Given the description of an element on the screen output the (x, y) to click on. 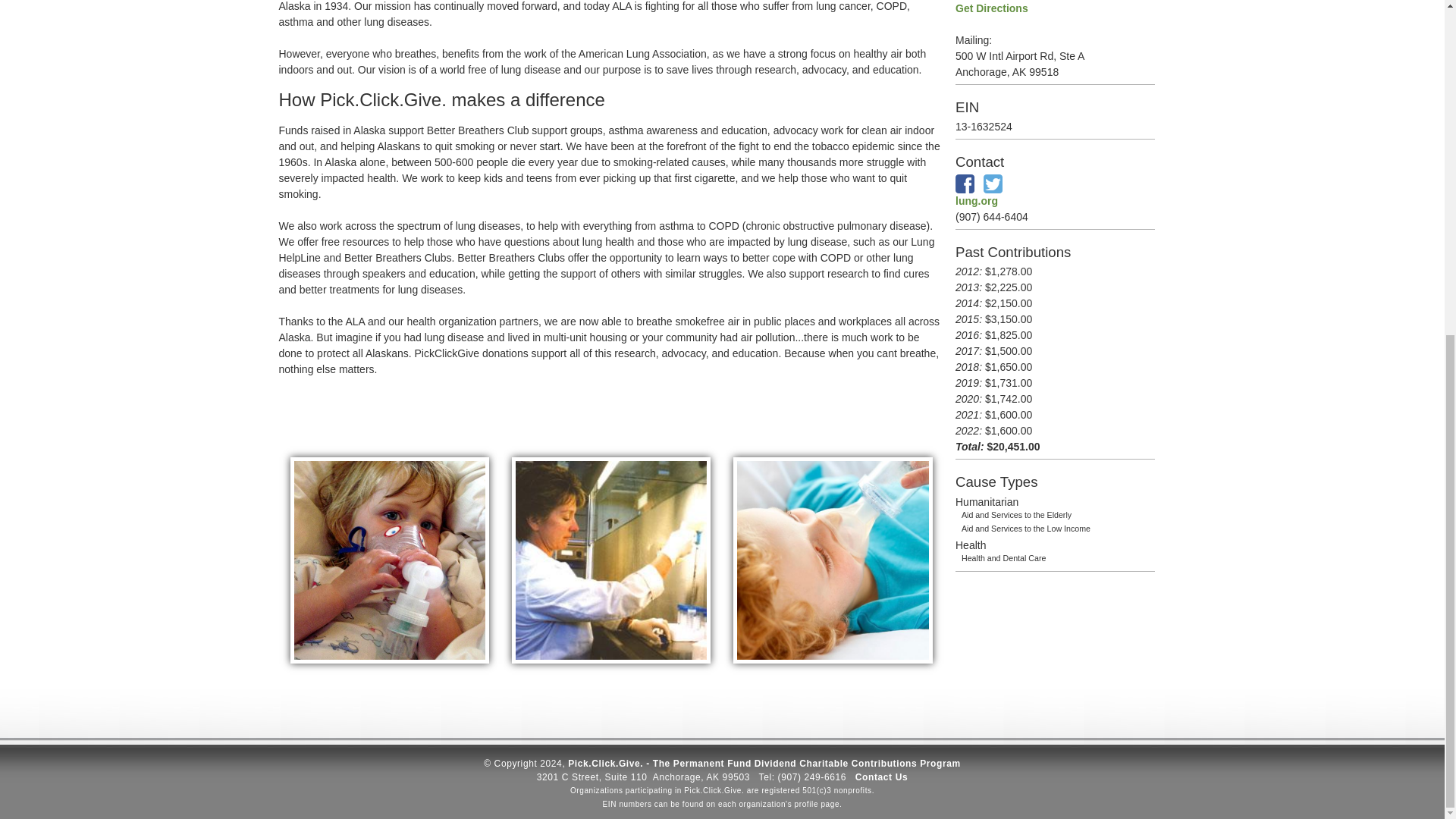
Get Directions (991, 8)
Contact Us (881, 777)
lung.org (976, 200)
